Given the description of an element on the screen output the (x, y) to click on. 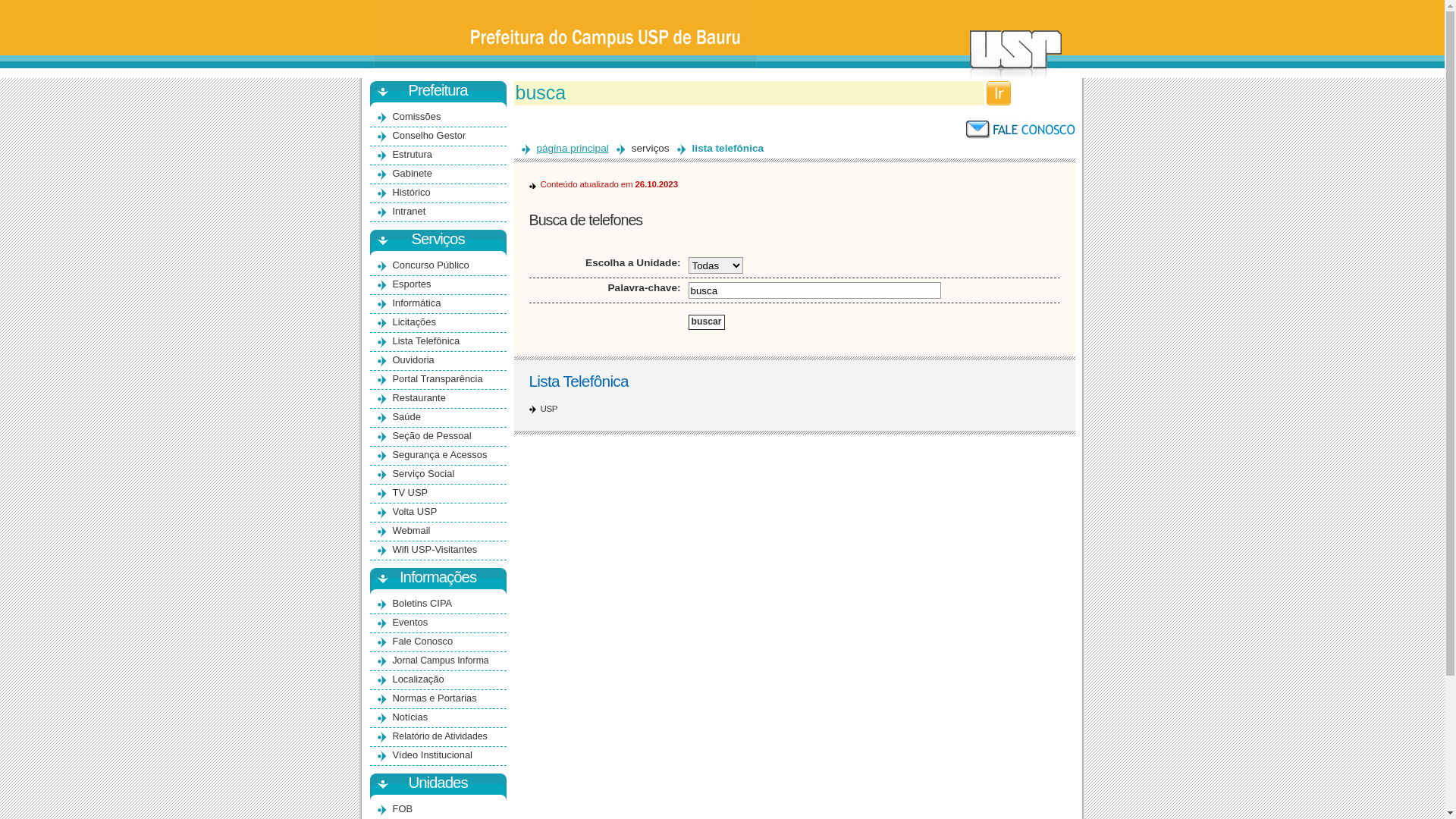
buscar Element type: text (706, 321)
Intranet Element type: text (409, 210)
FOB Element type: text (402, 808)
Webmail Element type: text (411, 530)
Volta USP Element type: text (414, 511)
Gabinete Element type: text (412, 172)
Normas e Portarias Element type: text (434, 697)
Restaurante Element type: text (418, 397)
Conselho Gestor Element type: text (429, 135)
Esportes Element type: text (411, 283)
TV USP Element type: text (410, 492)
Wifi USP-Visitantes Element type: text (434, 549)
Estrutura Element type: text (412, 154)
USP Element type: text (548, 408)
Boletins CIPA Element type: text (422, 602)
Jornal Campus Informa Element type: text (440, 660)
Eventos Element type: text (410, 621)
Fale Conosco Element type: text (422, 640)
Ouvidoria Element type: text (413, 359)
